Given the description of an element on the screen output the (x, y) to click on. 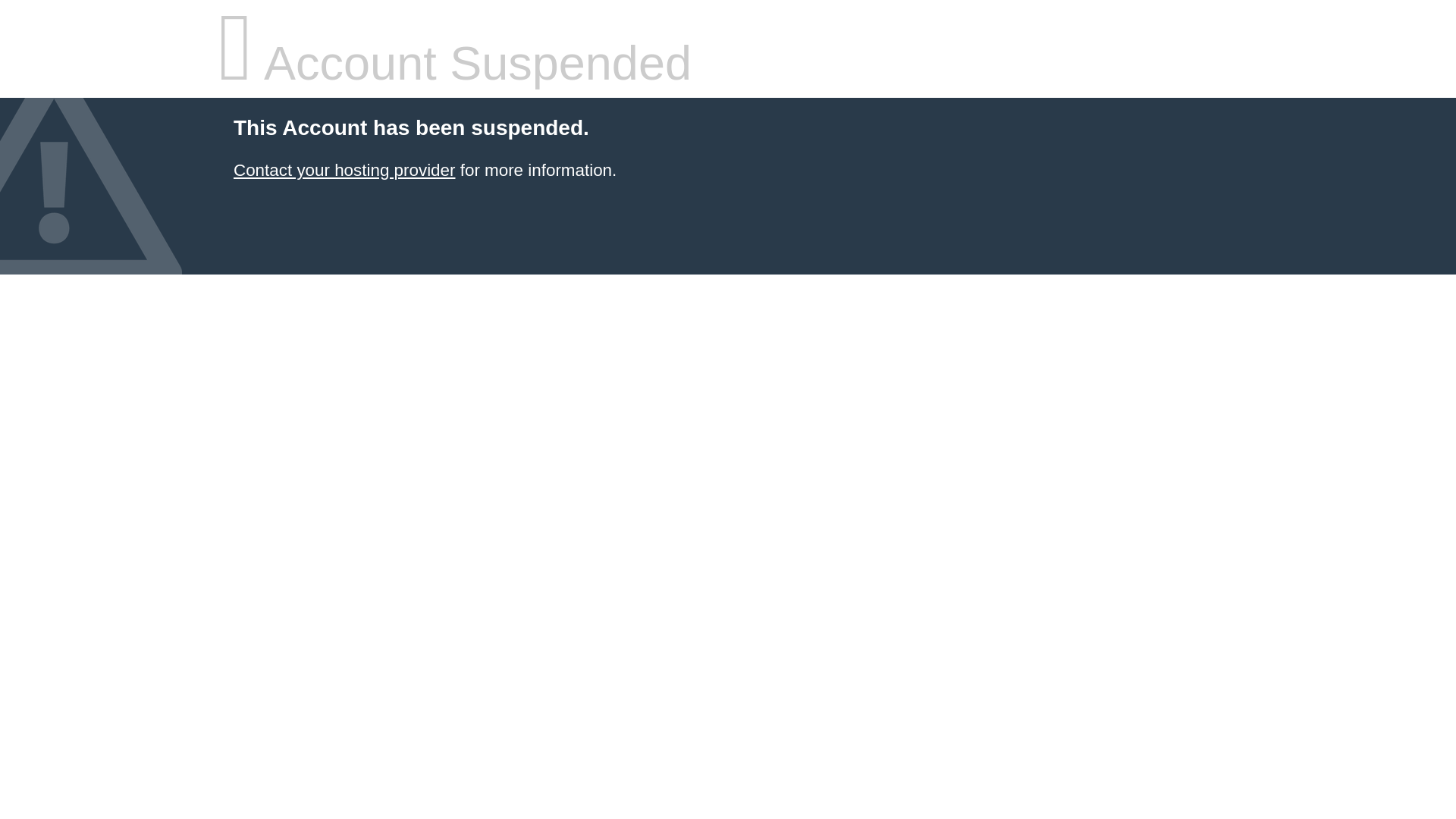
Contact your hosting provider (343, 169)
